Given the description of an element on the screen output the (x, y) to click on. 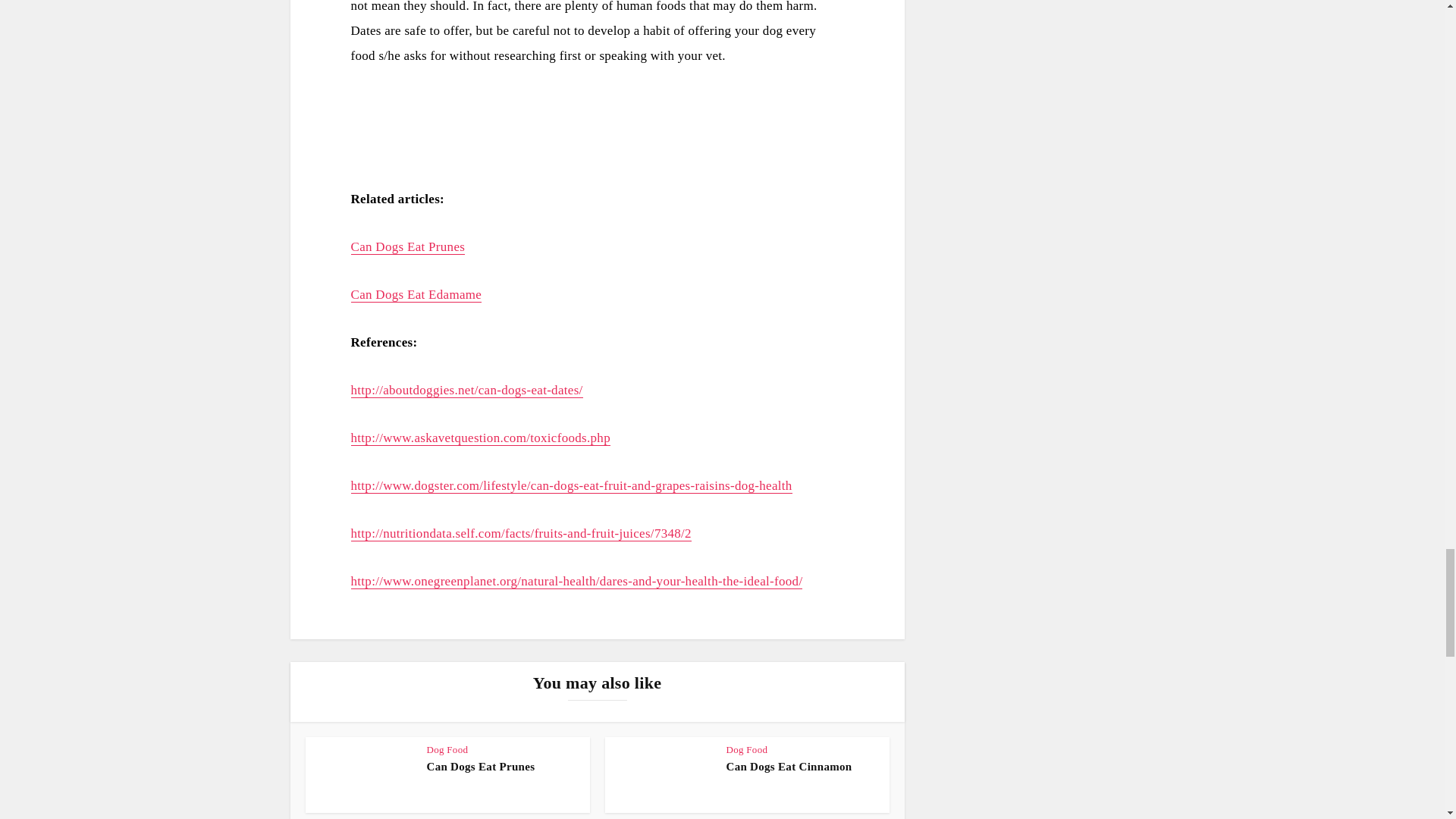
Can Dogs Eat Prunes (480, 766)
Can Dogs Eat Cinnamon (788, 766)
